Given the description of an element on the screen output the (x, y) to click on. 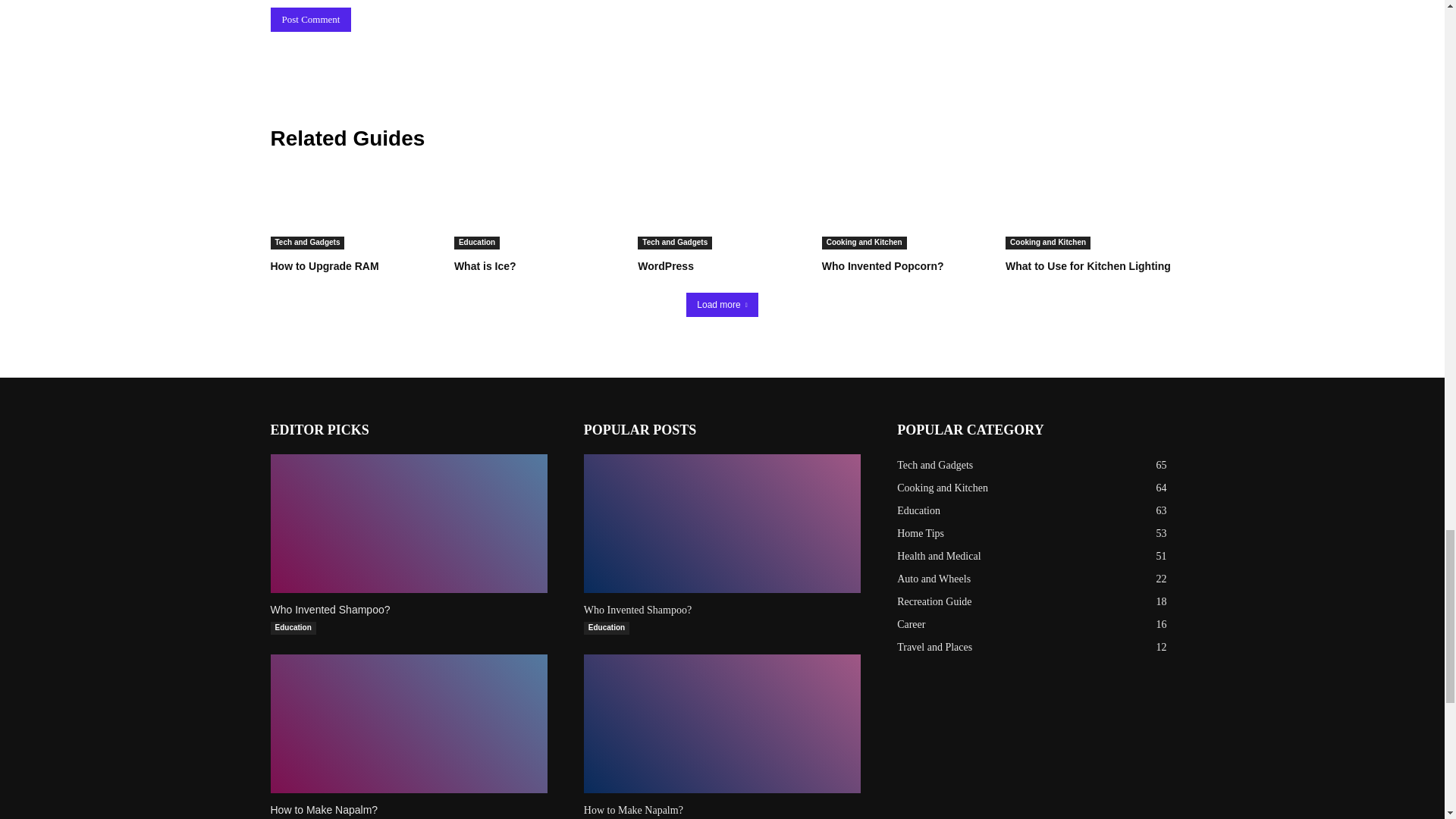
Post Comment (309, 19)
